Given the description of an element on the screen output the (x, y) to click on. 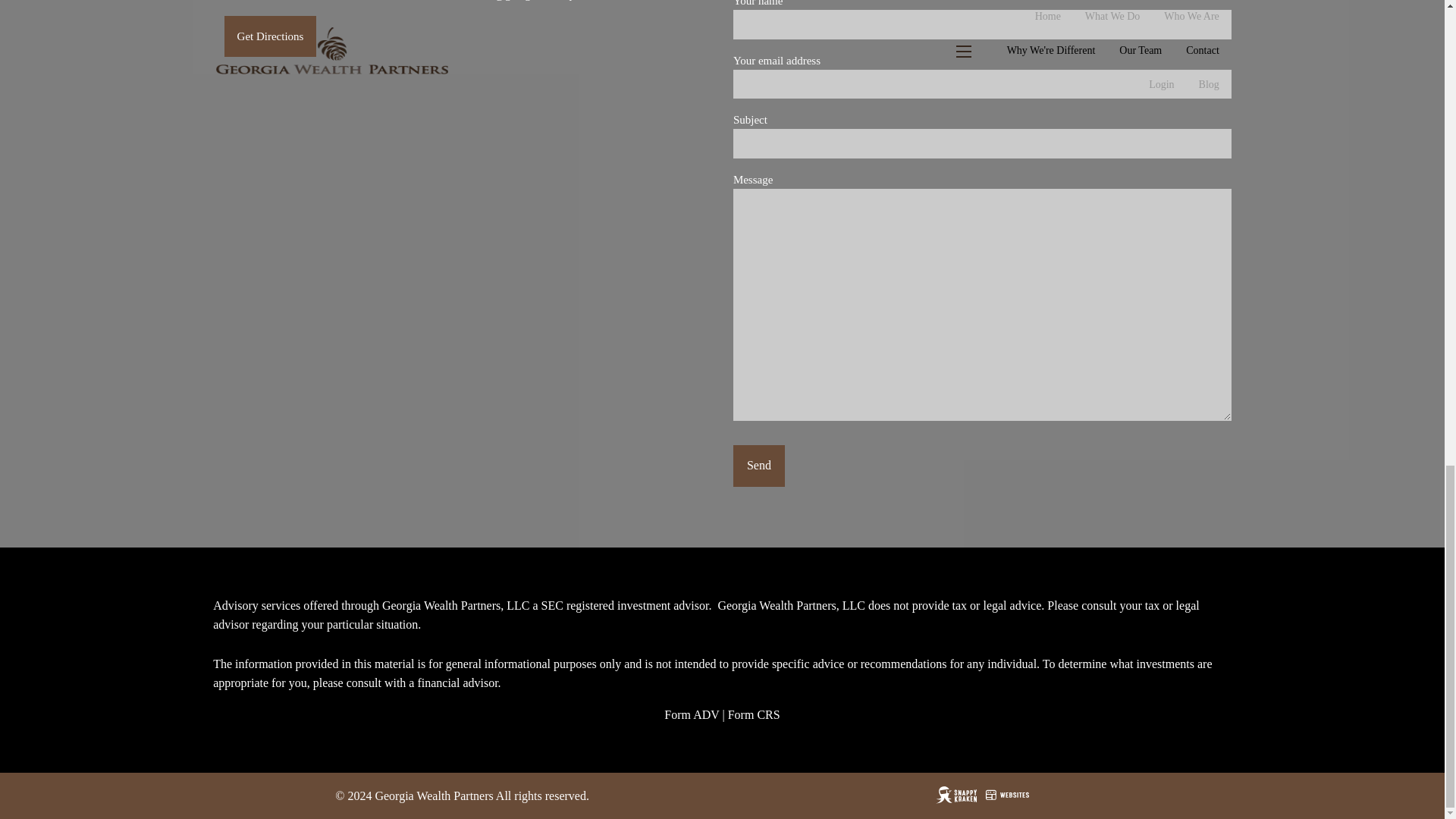
Form CRS (754, 714)
Send (758, 465)
Google Maps Directions (270, 35)
Get Directions (270, 35)
Form ADV (691, 714)
Send (758, 465)
